Given the description of an element on the screen output the (x, y) to click on. 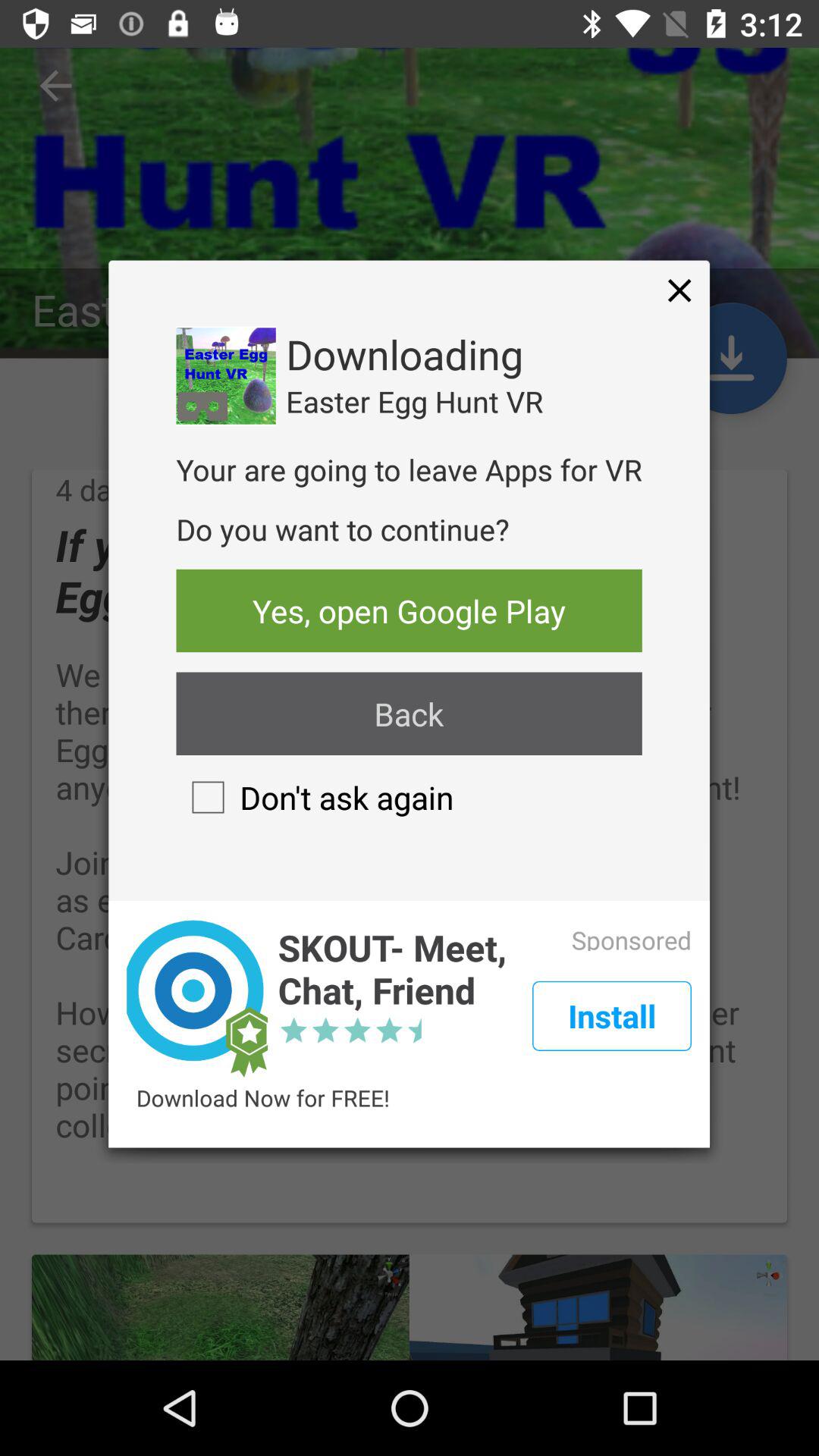
scroll until the install app (611, 1016)
